Given the description of an element on the screen output the (x, y) to click on. 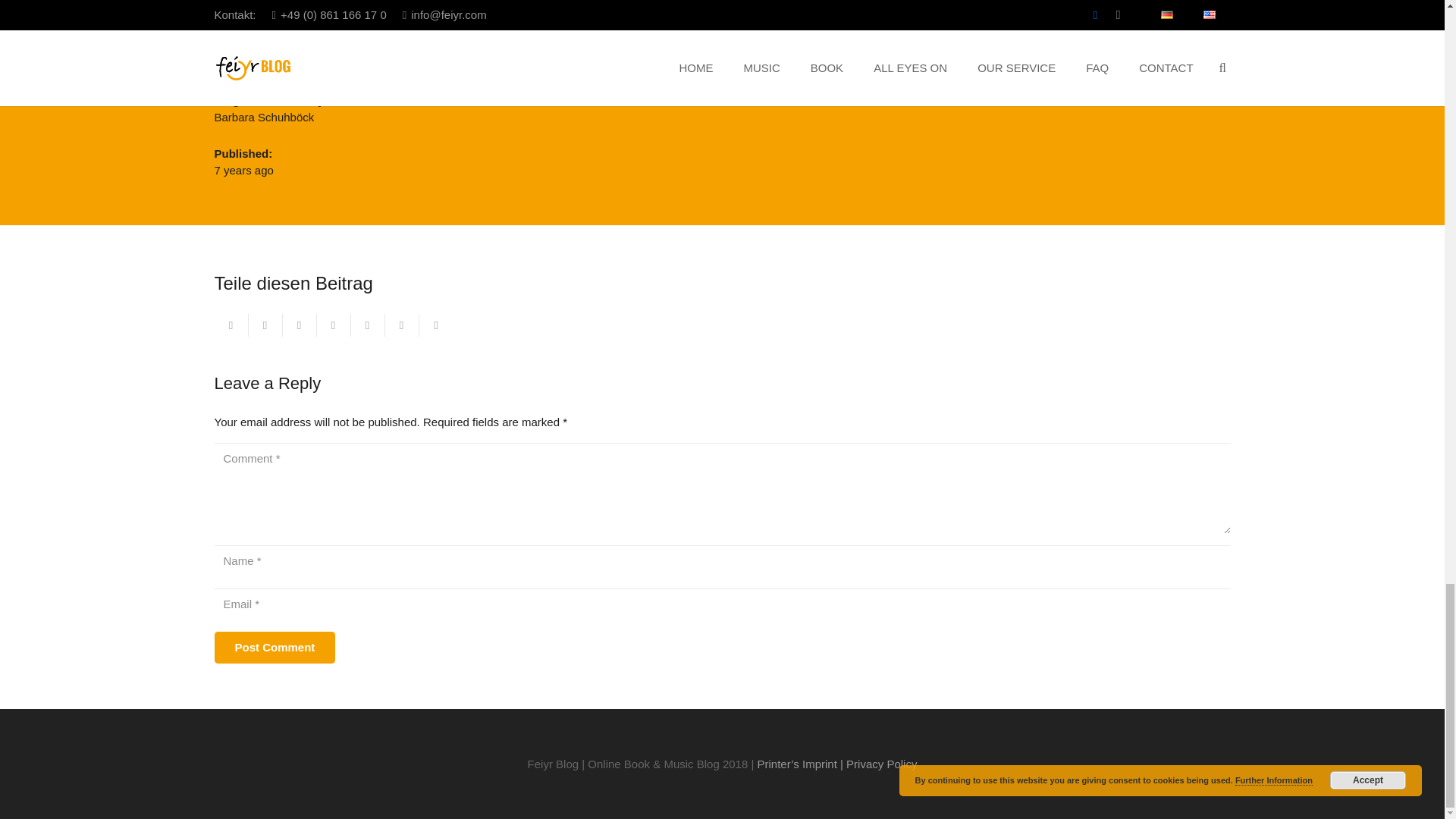
Tweet this (298, 324)
Share this (333, 324)
Share this (435, 324)
Email this (230, 324)
Share this (367, 324)
Share this (402, 324)
Share this (265, 324)
